Given the description of an element on the screen output the (x, y) to click on. 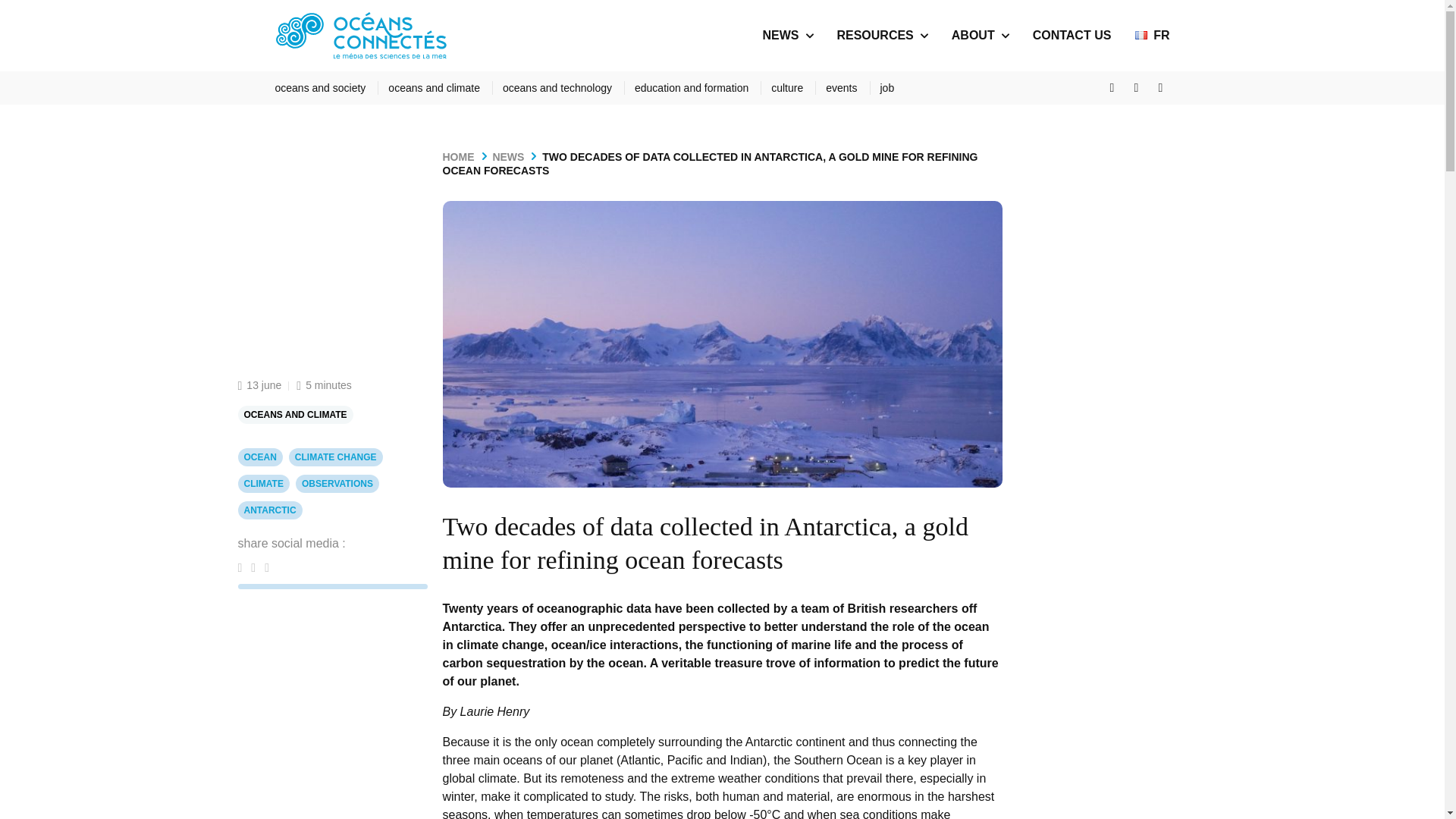
NEWS (515, 156)
culture (793, 88)
HOME (465, 156)
job (886, 88)
RESOURCES (873, 34)
ABOUT (973, 34)
CONTACT US (1072, 34)
oceans and climate (440, 88)
NEWS (779, 34)
oceans and society (326, 88)
